Given the description of an element on the screen output the (x, y) to click on. 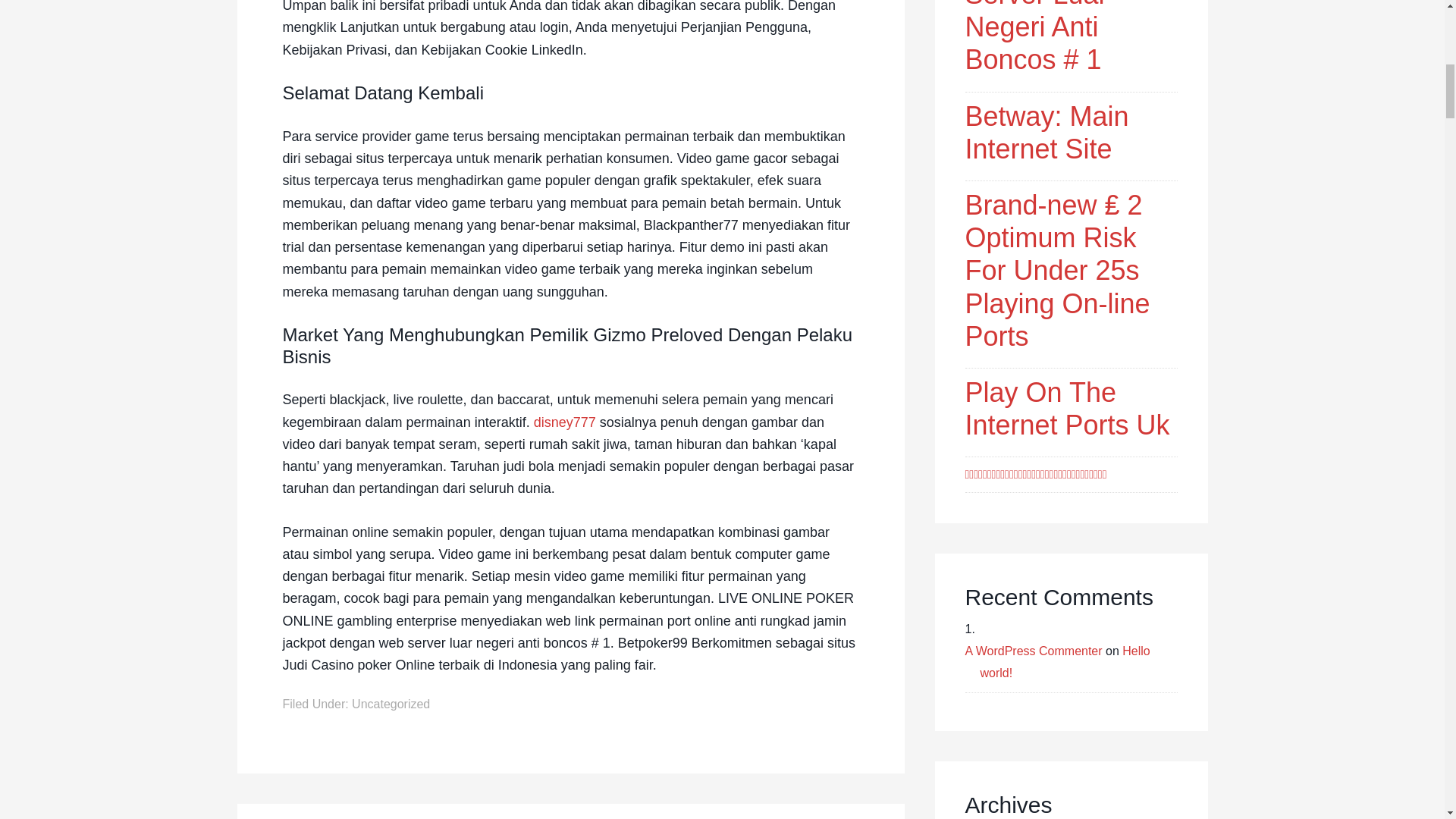
disney777 (564, 421)
Uncategorized (390, 703)
